Given the description of an element on the screen output the (x, y) to click on. 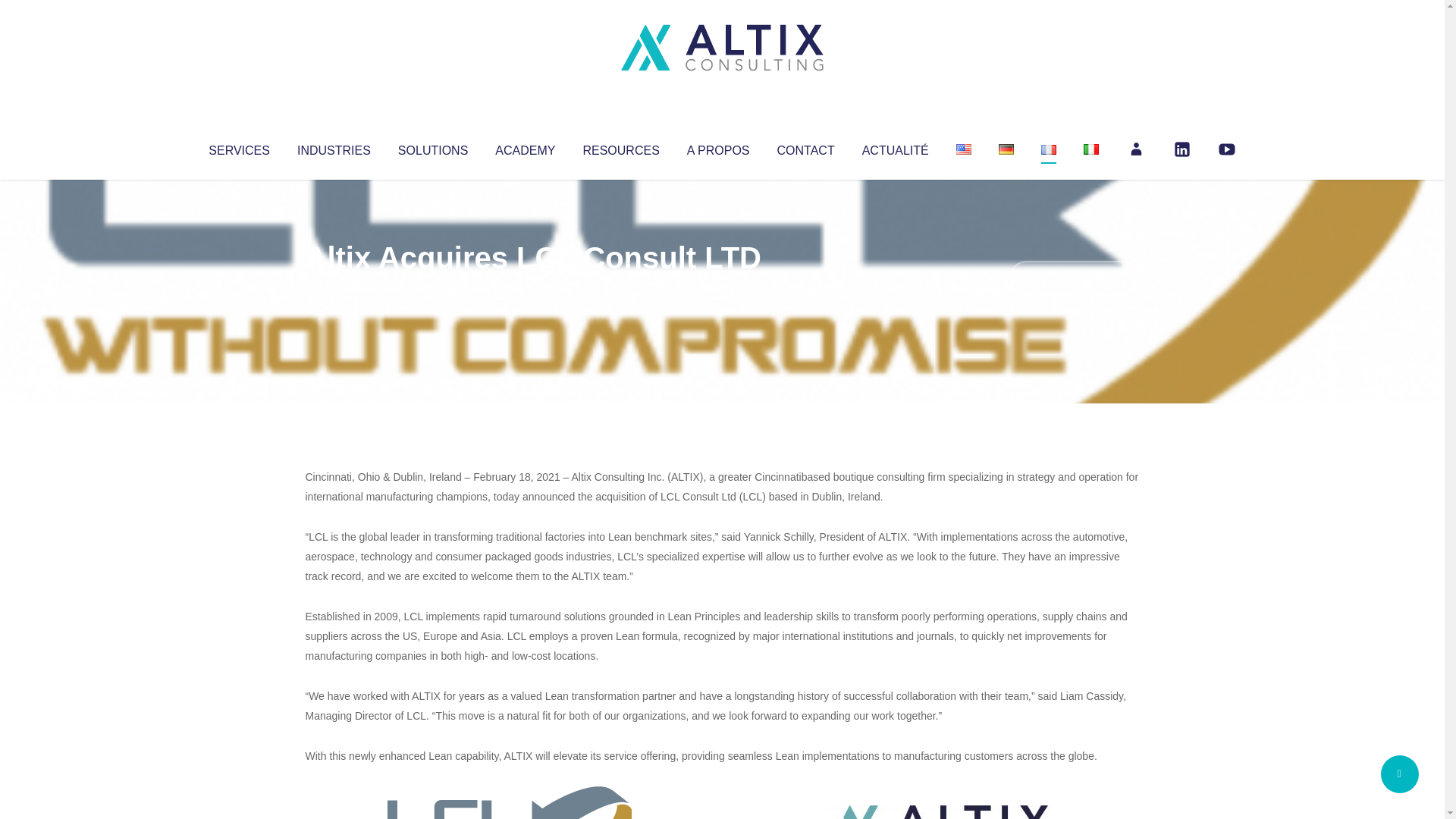
RESOURCES (620, 146)
Uncategorized (530, 287)
Articles par Altix (333, 287)
A PROPOS (718, 146)
Altix (333, 287)
SERVICES (238, 146)
No Comments (1073, 278)
INDUSTRIES (334, 146)
ACADEMY (524, 146)
SOLUTIONS (432, 146)
